Given the description of an element on the screen output the (x, y) to click on. 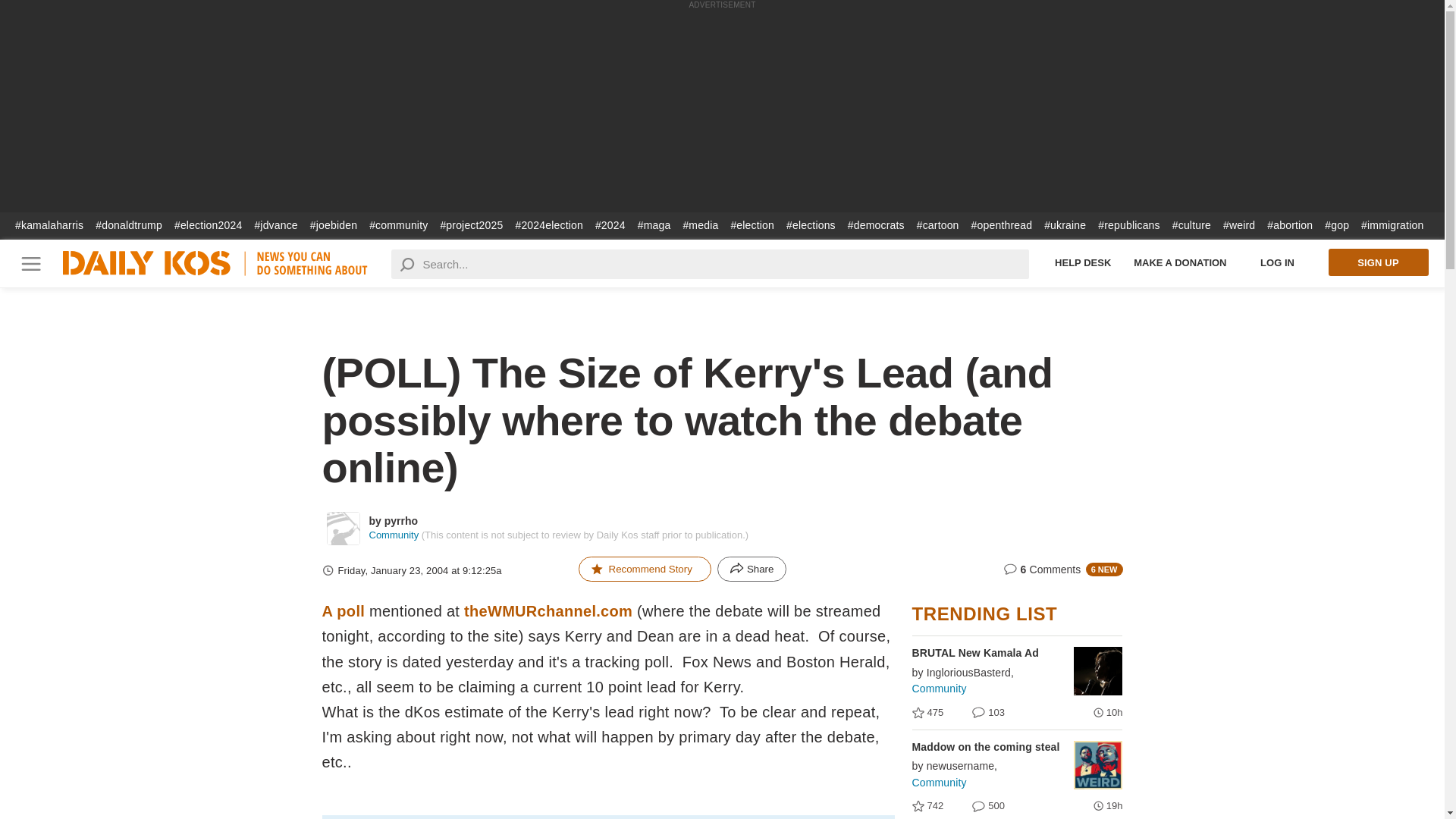
MAKE A DONATION (1375, 262)
Make a Donation (1375, 262)
Help Desk (1277, 262)
